Given the description of an element on the screen output the (x, y) to click on. 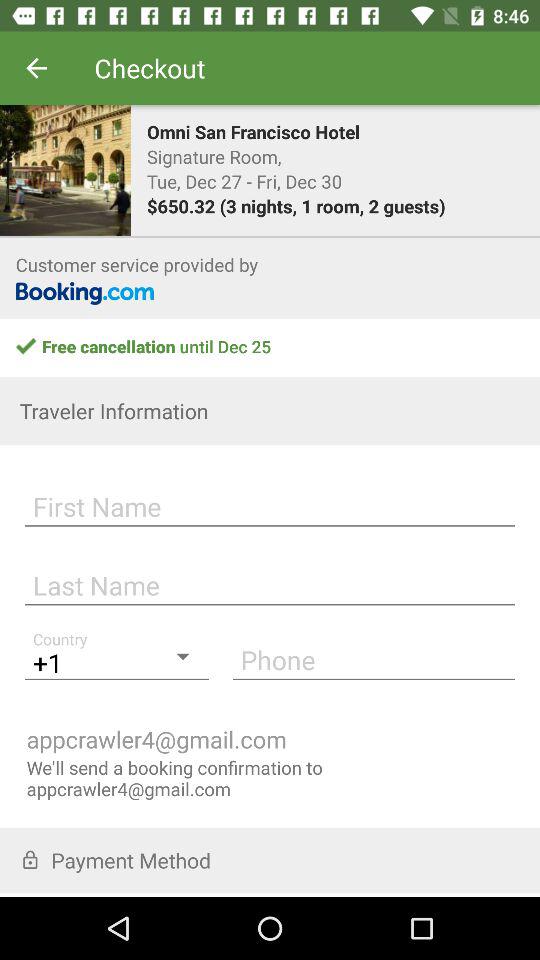
select first name field (269, 503)
click on the text field country 1 (116, 659)
